Given the description of an element on the screen output the (x, y) to click on. 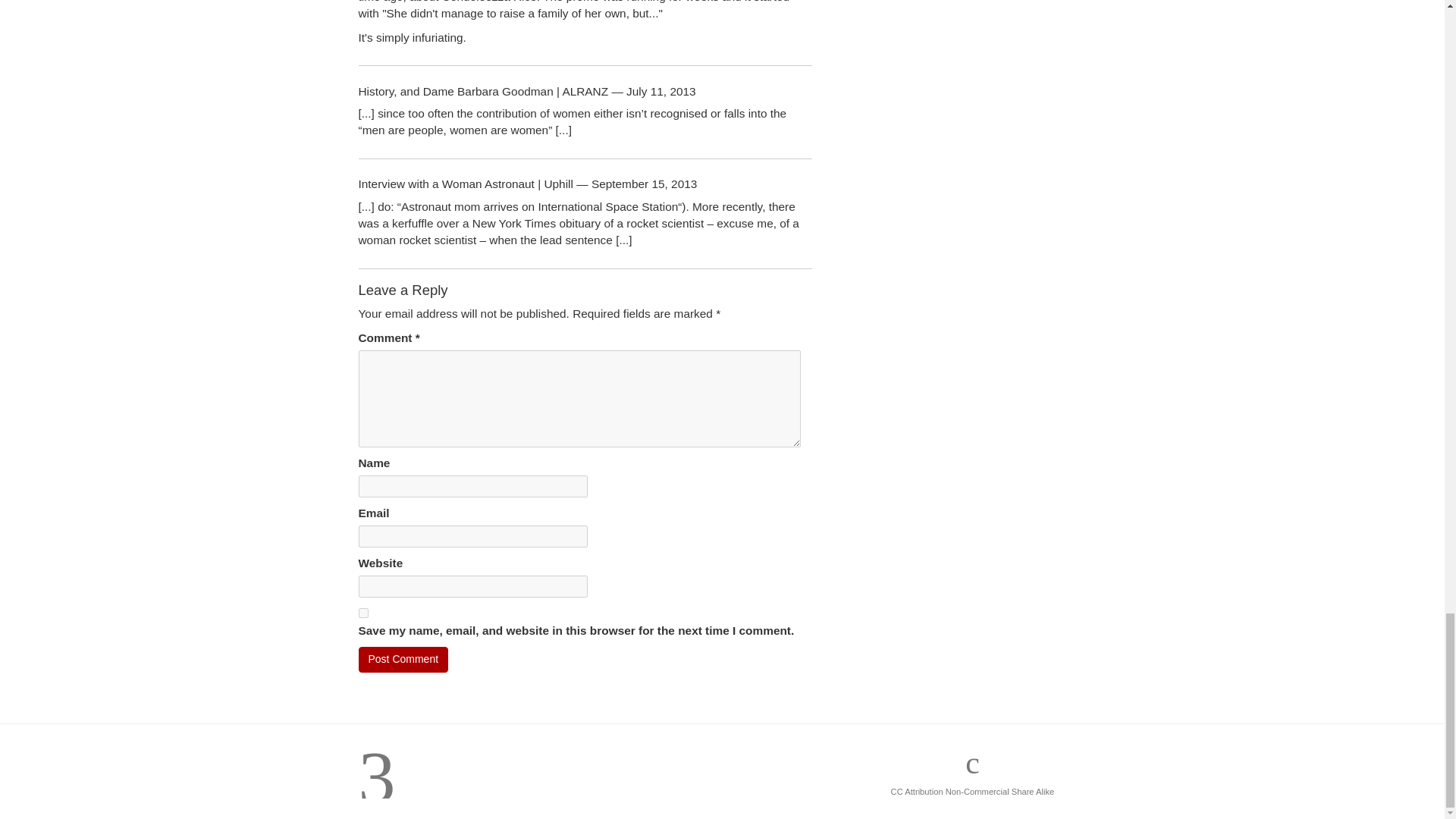
yes (363, 613)
Post Comment (403, 659)
